Given the description of an element on the screen output the (x, y) to click on. 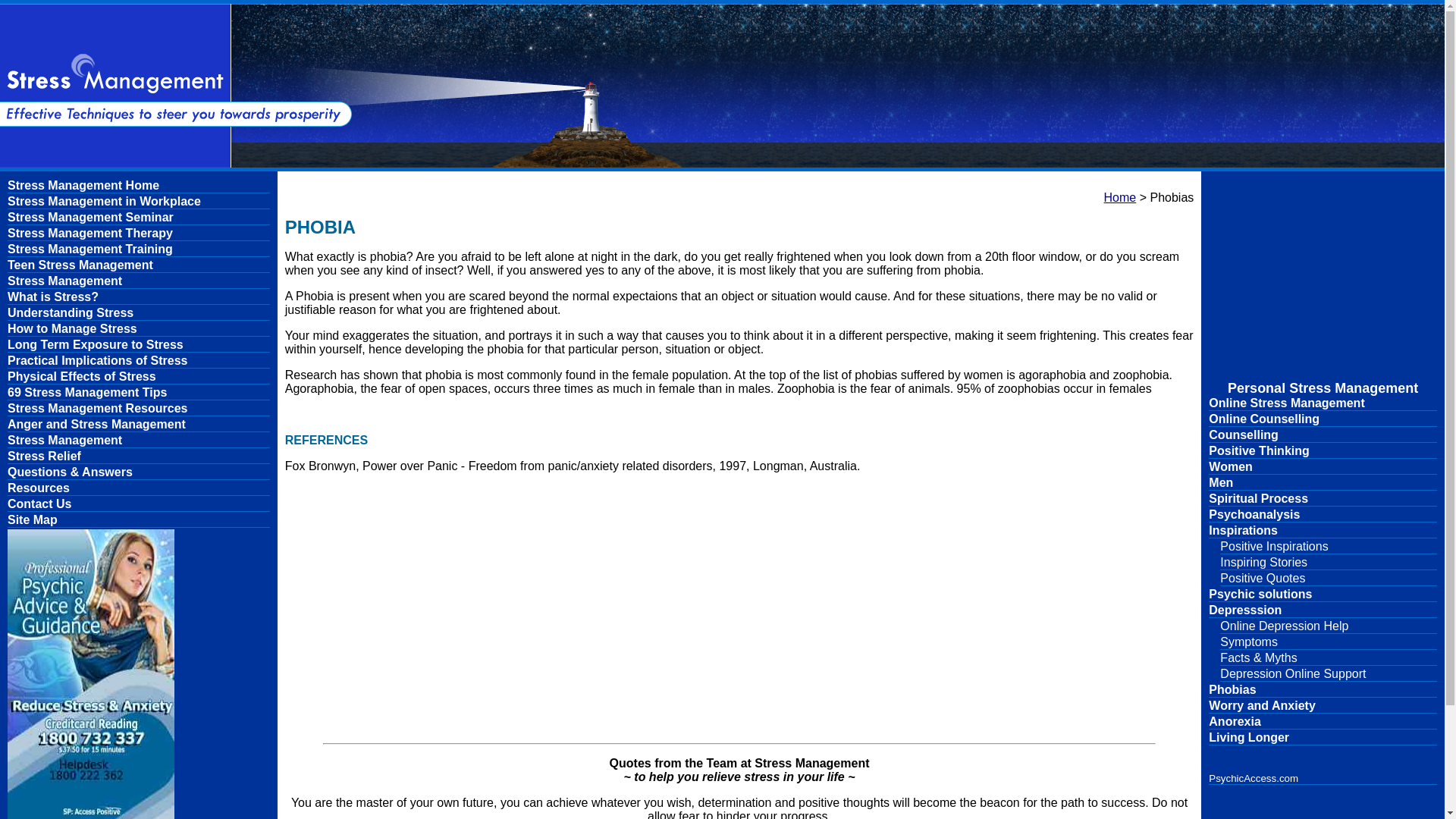
Stress Management in Workplace (138, 201)
Positive Inspirations (1328, 546)
Home (1120, 196)
Anger and Stress Management (138, 424)
Online Counselling (1322, 419)
Site Map (138, 520)
Practical Implications of Stress (138, 360)
Stress Management (138, 440)
Men (1322, 482)
Understanding Stress (138, 313)
How to Manage Stress (138, 329)
Counselling (1322, 435)
Resources (138, 488)
Positive Thinking (1322, 451)
Stress Management Resources (138, 409)
